Given the description of an element on the screen output the (x, y) to click on. 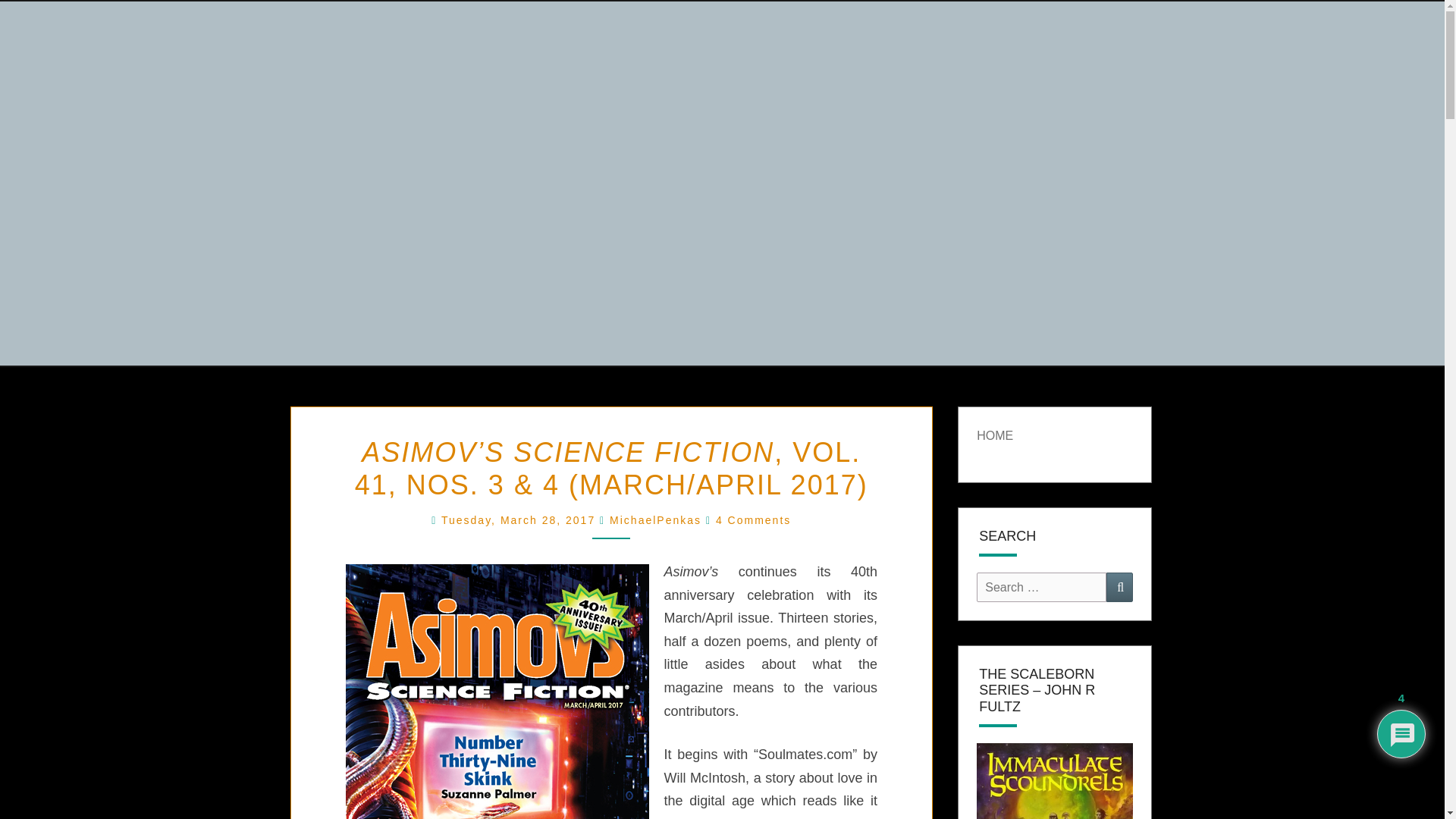
View all posts by MichaelPenkas (655, 520)
Search (1119, 586)
Tuesday, March 28, 2017 (520, 520)
4 Comments (753, 520)
MichaelPenkas (655, 520)
10:41 am (520, 520)
HOME (994, 435)
